Given the description of an element on the screen output the (x, y) to click on. 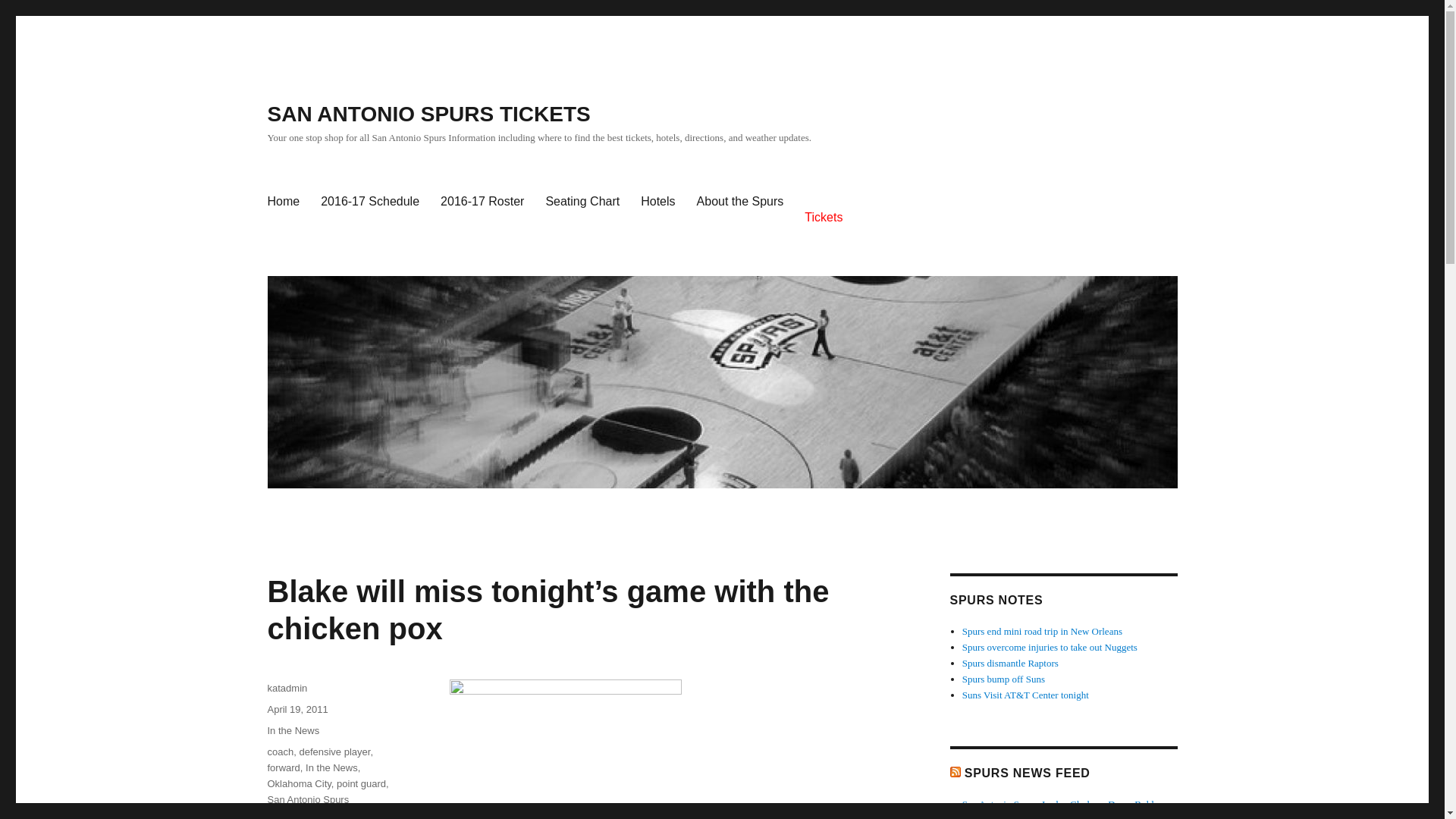
Spurs bump off Suns (1003, 678)
SPURS NEWS FEED (1026, 772)
Spurs end mini road trip in New Orleans (1042, 631)
In the News (331, 767)
April 19, 2011 (296, 708)
Hotels (657, 201)
Spurs dismantle Raptors (1010, 663)
2016-17 Roster (481, 201)
Spurs overcome injuries to take out Nuggets (1049, 646)
SAN ANTONIO SPURS TICKETS (427, 114)
